Given the description of an element on the screen output the (x, y) to click on. 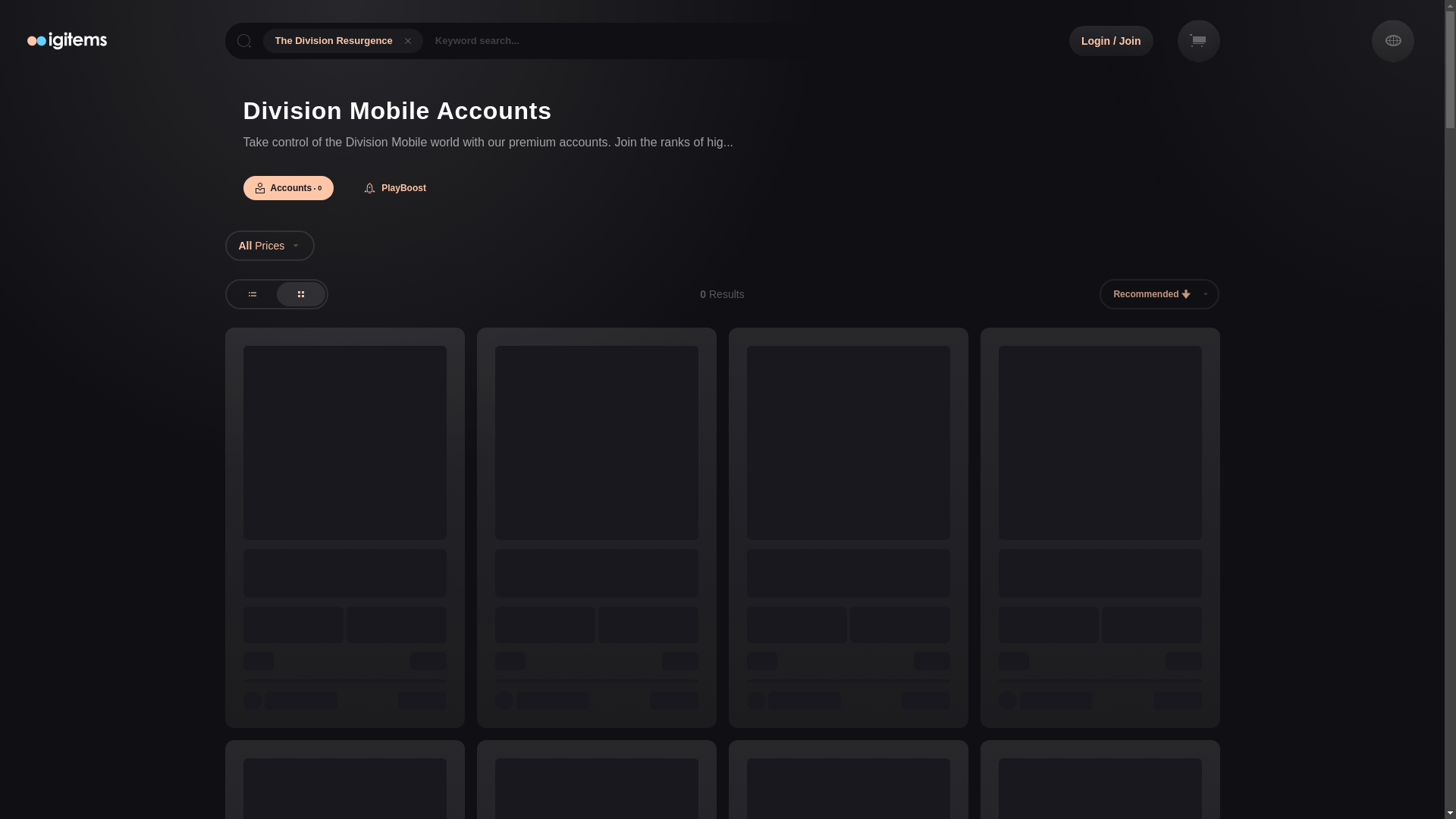
Recommended (722, 187)
PlayBoost (1159, 294)
